Given the description of an element on the screen output the (x, y) to click on. 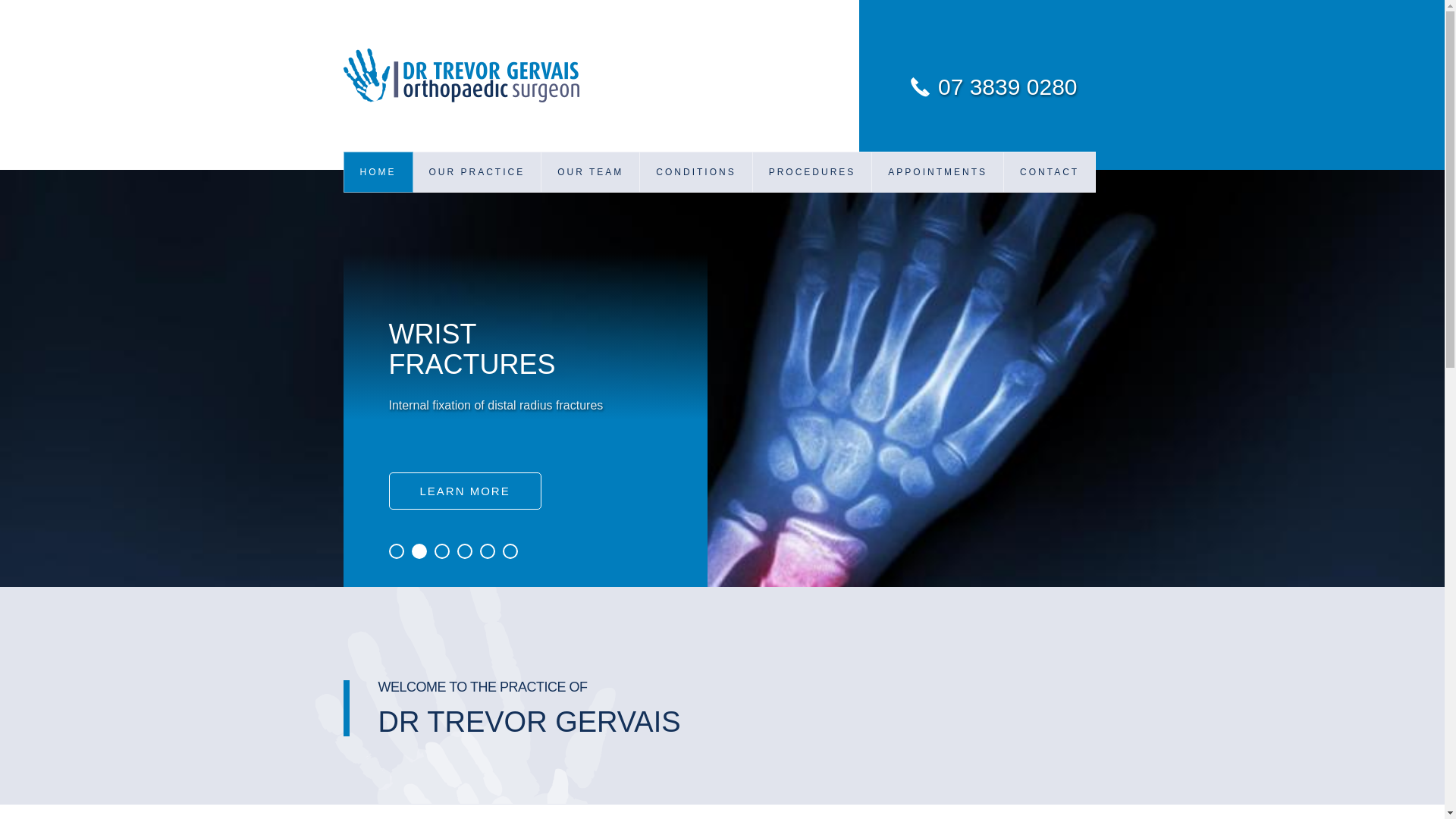
ELBOW Element type: text (812, 285)
PROCEDURES Element type: text (812, 171)
WRIST Element type: text (812, 248)
WRIST Element type: text (695, 248)
HAND Element type: text (812, 211)
OUR PRACTICE Element type: text (476, 171)
ELBOW Element type: text (695, 285)
HAND Element type: text (695, 211)
LEARN MORE Element type: text (464, 490)
SHOULDER Element type: text (812, 322)
Dr Trevor Gervais Home Element type: hover (500, 75)
LOCATIONS Element type: text (1049, 248)
SHOULDER Element type: text (695, 322)
CONTACT US Element type: text (1049, 211)
Skip to main content Element type: text (54, 0)
FREQUENTLY ASKED QUESTIONS Element type: text (937, 211)
Dr Trevor Gervais Home Element type: hover (460, 75)
UPPER LIMB SPASTICITY Element type: text (695, 397)
YOUR FIRST VISIT Element type: text (937, 248)
CONTACT Element type: text (1049, 171)
BRACHIAL PLEXUS INJURIES Element type: text (695, 360)
07 3839 0280 Element type: text (996, 86)
CONDITIONS Element type: text (696, 171)
HOME Element type: text (377, 171)
FEES AND PAYMENT Element type: text (937, 285)
APPOINTMENTS Element type: text (938, 171)
OUR TEAM Element type: text (590, 171)
